Given the description of an element on the screen output the (x, y) to click on. 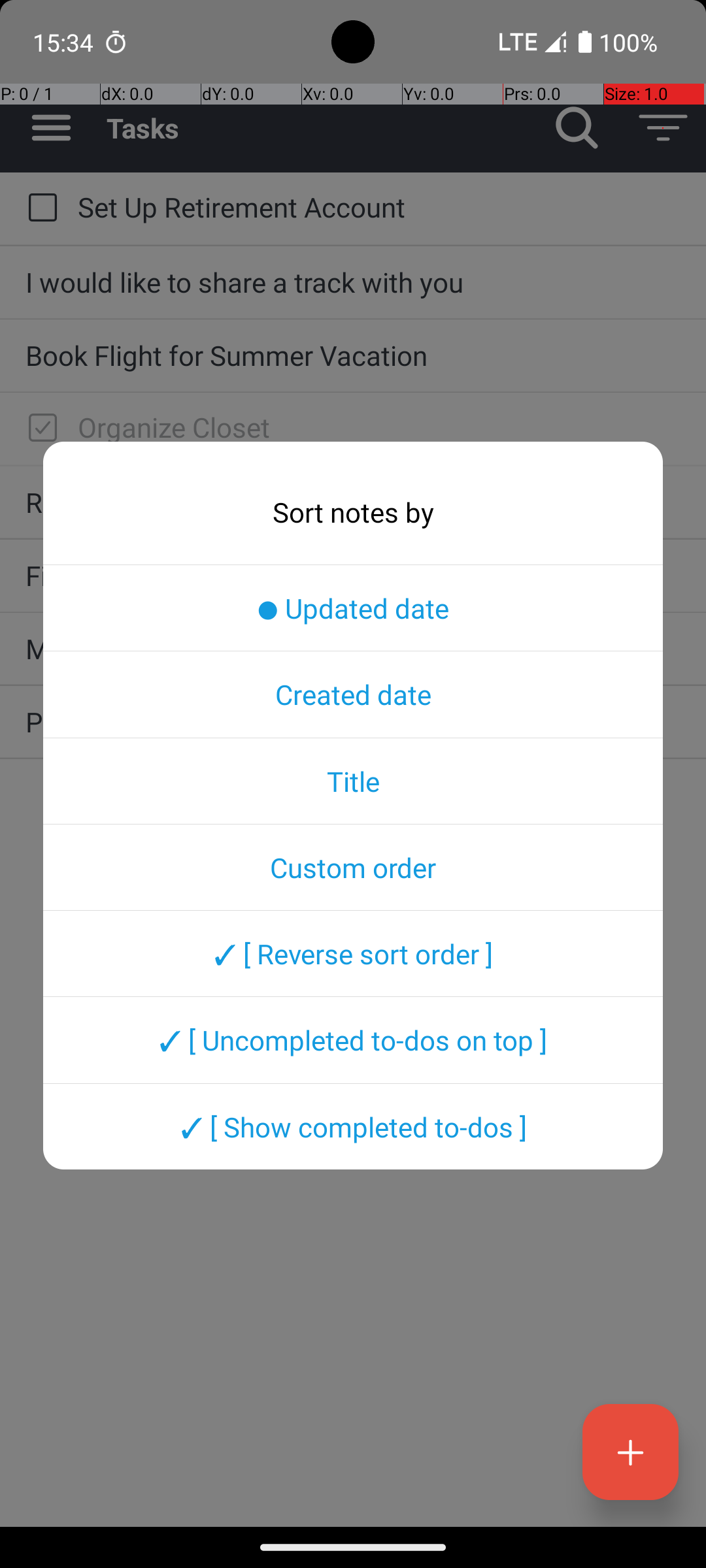
⬤ Updated date Element type: android.widget.TextView (352, 607)
Created date Element type: android.widget.TextView (352, 693)
Custom order Element type: android.widget.TextView (352, 866)
✓ [ Reverse sort order ] Element type: android.widget.TextView (352, 953)
✓ [ Uncompleted to-dos on top ] Element type: android.widget.TextView (352, 1039)
✓ [ Show completed to-dos ] Element type: android.widget.TextView (352, 1126)
to-do: Set Up Retirement Account Element type: android.widget.CheckBox (38, 208)
Set Up Retirement Account Element type: android.widget.TextView (378, 206)
I would like to share a track with you Element type: android.widget.TextView (352, 281)
Book Flight for Summer Vacation Element type: android.widget.TextView (352, 354)
to-do: Organize Closet Element type: android.widget.CheckBox (38, 428)
Research New Laptop Element type: android.widget.TextView (352, 501)
Finish Presentation Slides for Team Meeting Element type: android.widget.TextView (352, 574)
Morning Routine Element type: android.widget.TextView (352, 648)
Pay Bills Element type: android.widget.TextView (352, 721)
